Given the description of an element on the screen output the (x, y) to click on. 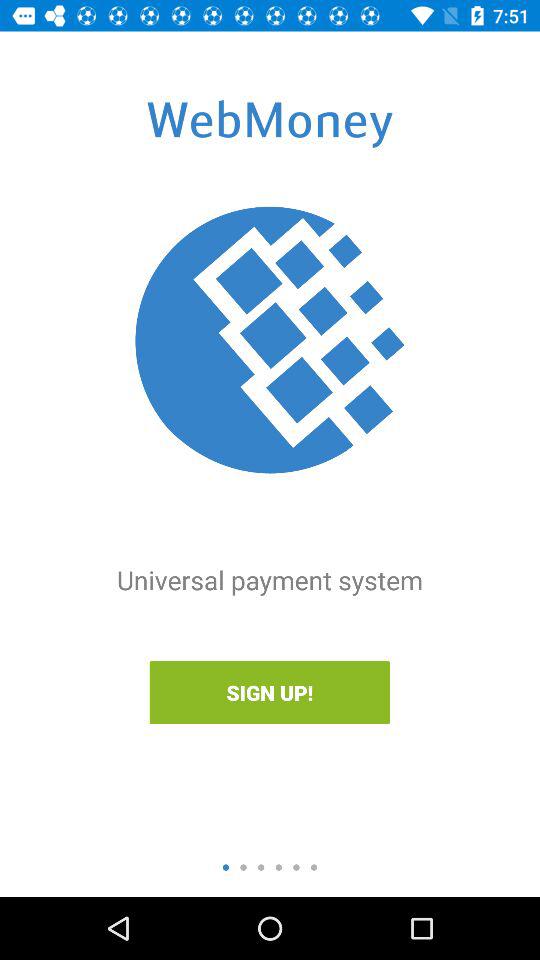
click icon below the universal payment system (269, 692)
